Given the description of an element on the screen output the (x, y) to click on. 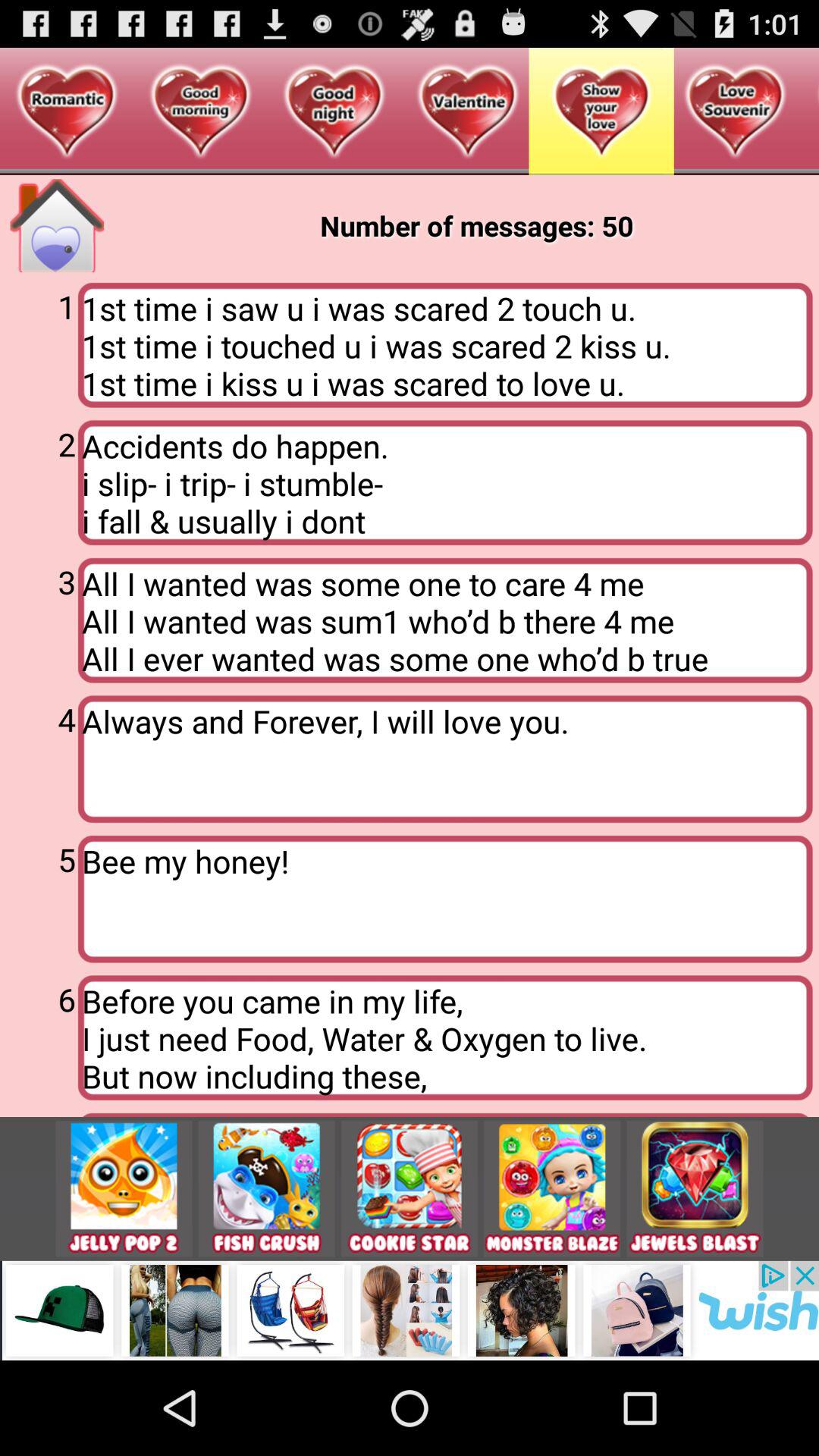
go to home (57, 225)
